Given the description of an element on the screen output the (x, y) to click on. 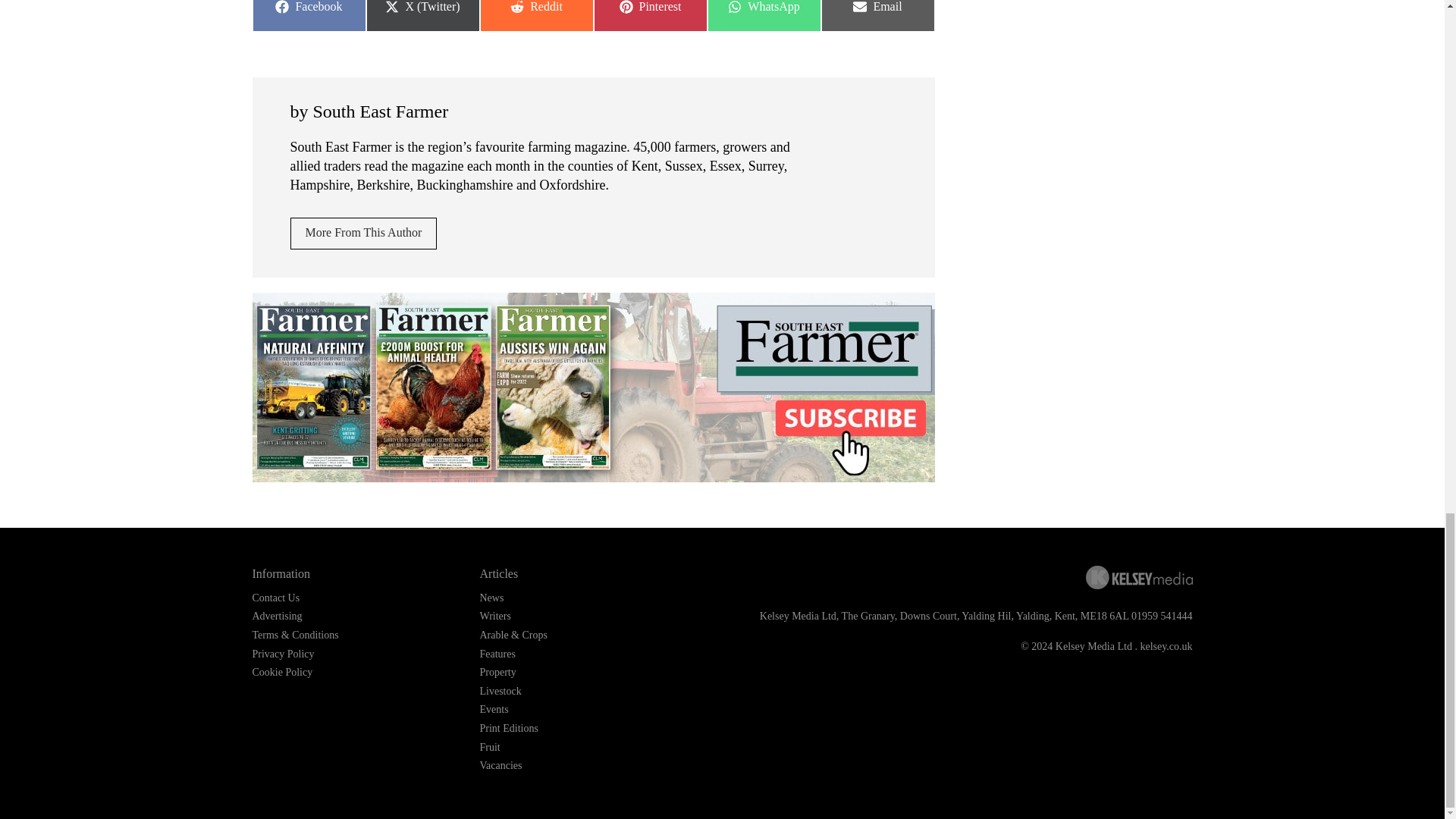
Advertising (877, 15)
Contact Us (308, 15)
More From This Author (276, 615)
